Given the description of an element on the screen output the (x, y) to click on. 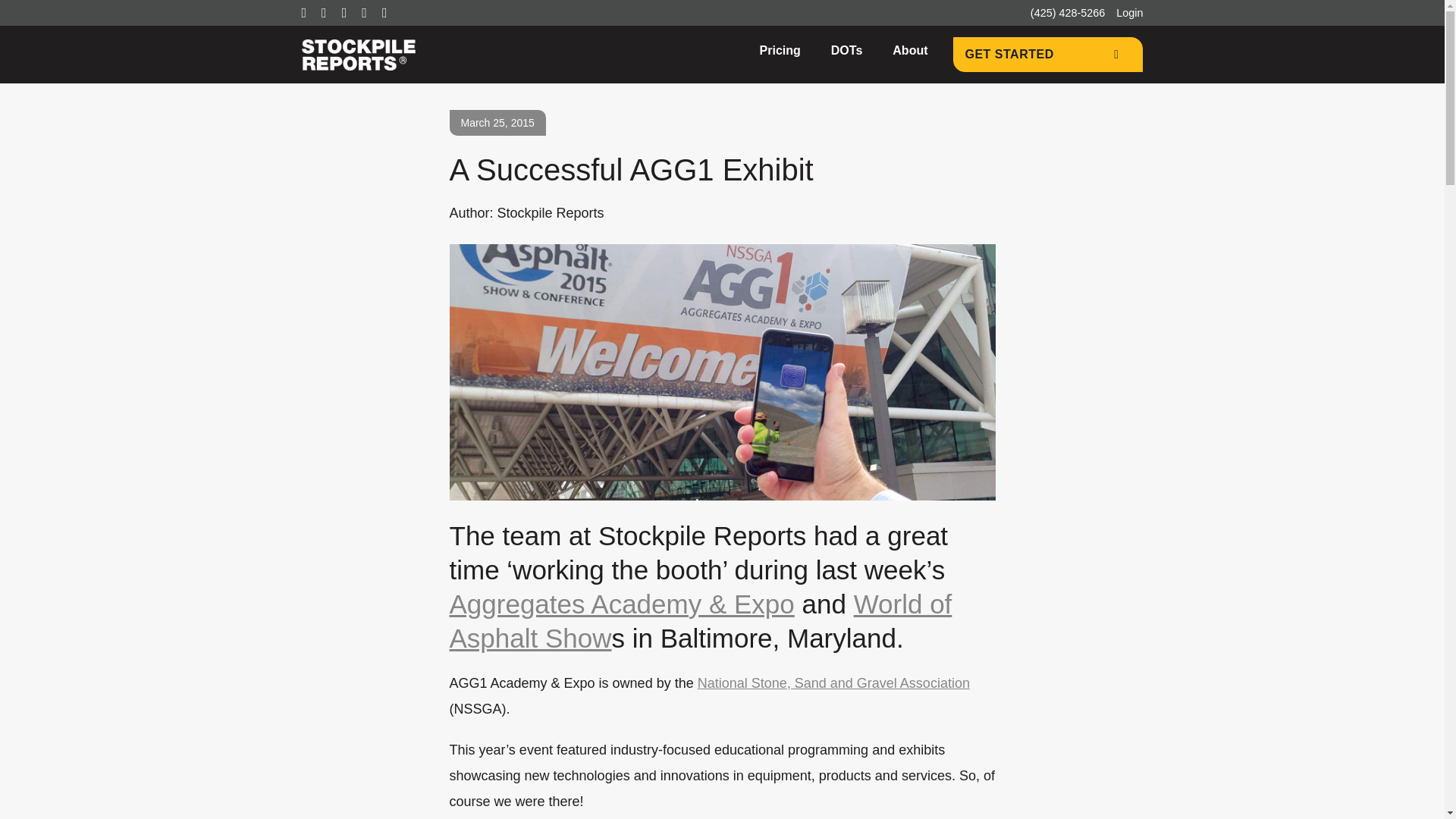
National Stone, Sand and Gravel Association (833, 682)
GET STARTED (1046, 54)
Login (1129, 12)
Login (1129, 12)
Pricing (779, 50)
DOTs (846, 50)
World of Asphalt (700, 619)
World of Asphalt Show (700, 619)
NSSGA (833, 682)
About (909, 50)
Stockpile Reports (357, 54)
